Given the description of an element on the screen output the (x, y) to click on. 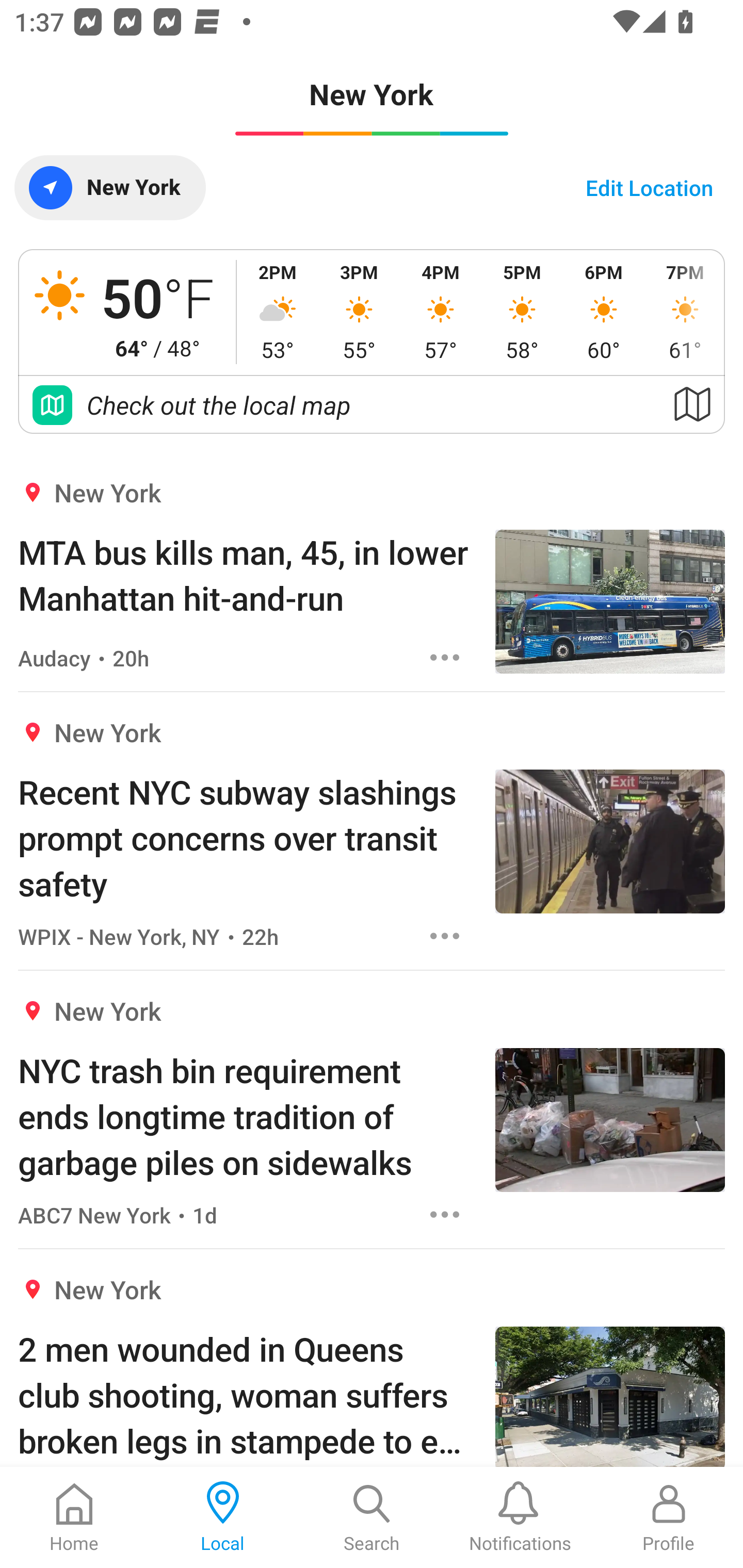
New York (109, 187)
Edit Location (648, 187)
2PM 53° (277, 311)
3PM 55° (358, 311)
4PM 57° (440, 311)
5PM 58° (522, 311)
6PM 60° (603, 311)
7PM 61° (684, 311)
Check out the local map (371, 405)
Options (444, 657)
Options (444, 936)
Options (444, 1214)
Home (74, 1517)
Search (371, 1517)
Notifications (519, 1517)
Profile (668, 1517)
